Given the description of an element on the screen output the (x, y) to click on. 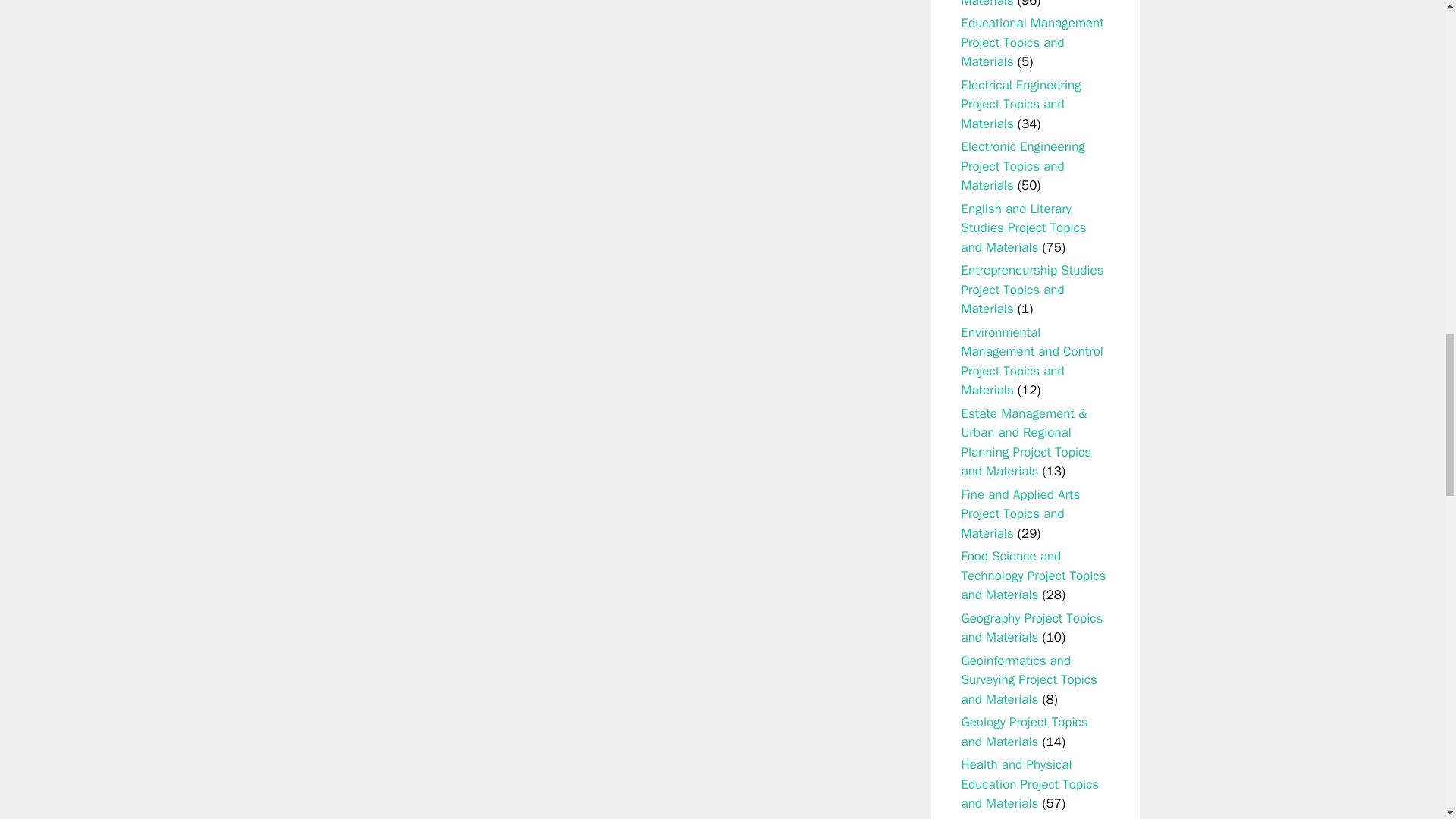
Educational Foundations Project Topics and Materials (1029, 4)
